Given the description of an element on the screen output the (x, y) to click on. 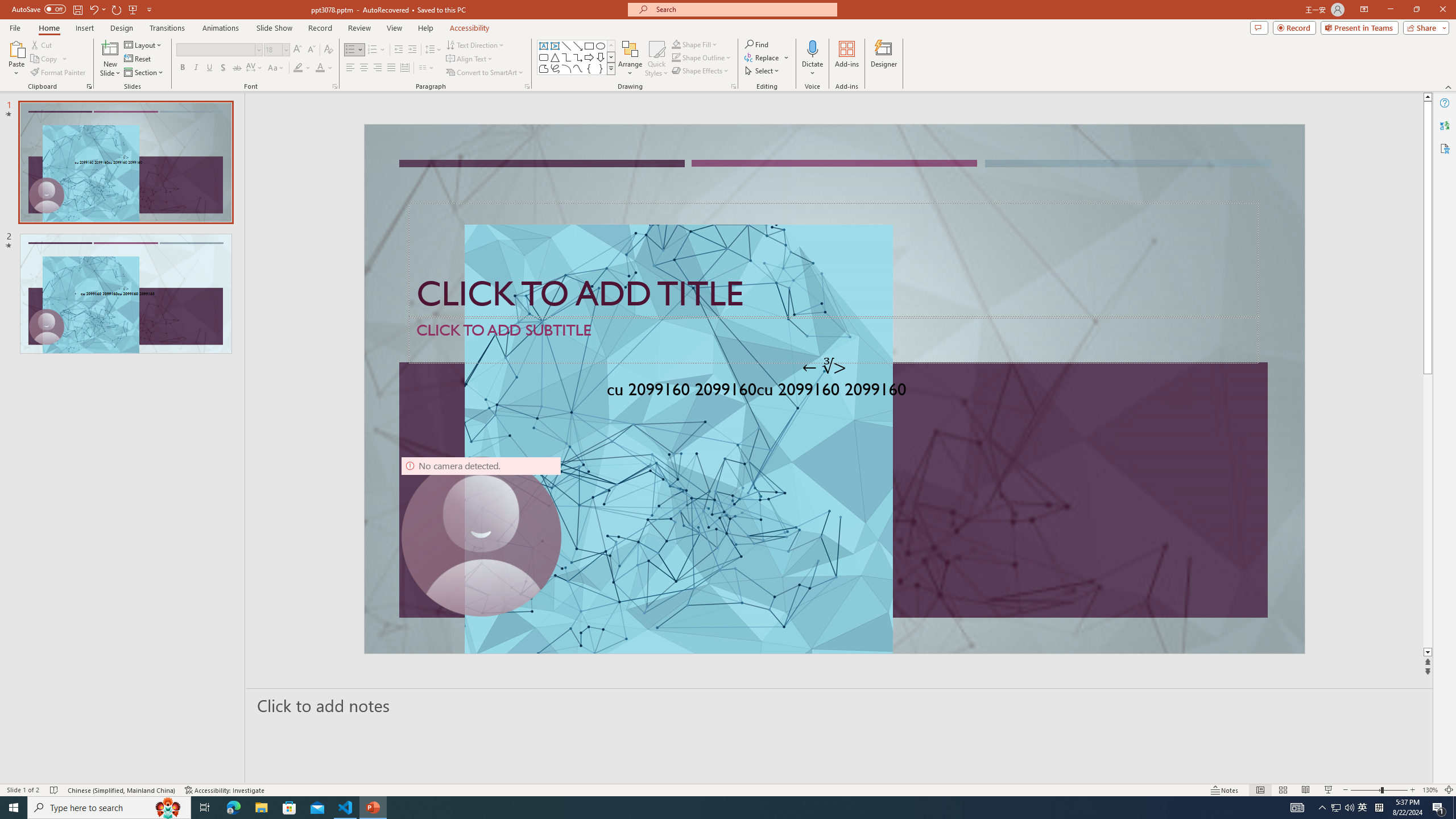
TextBox 7 (824, 367)
